Given the description of an element on the screen output the (x, y) to click on. 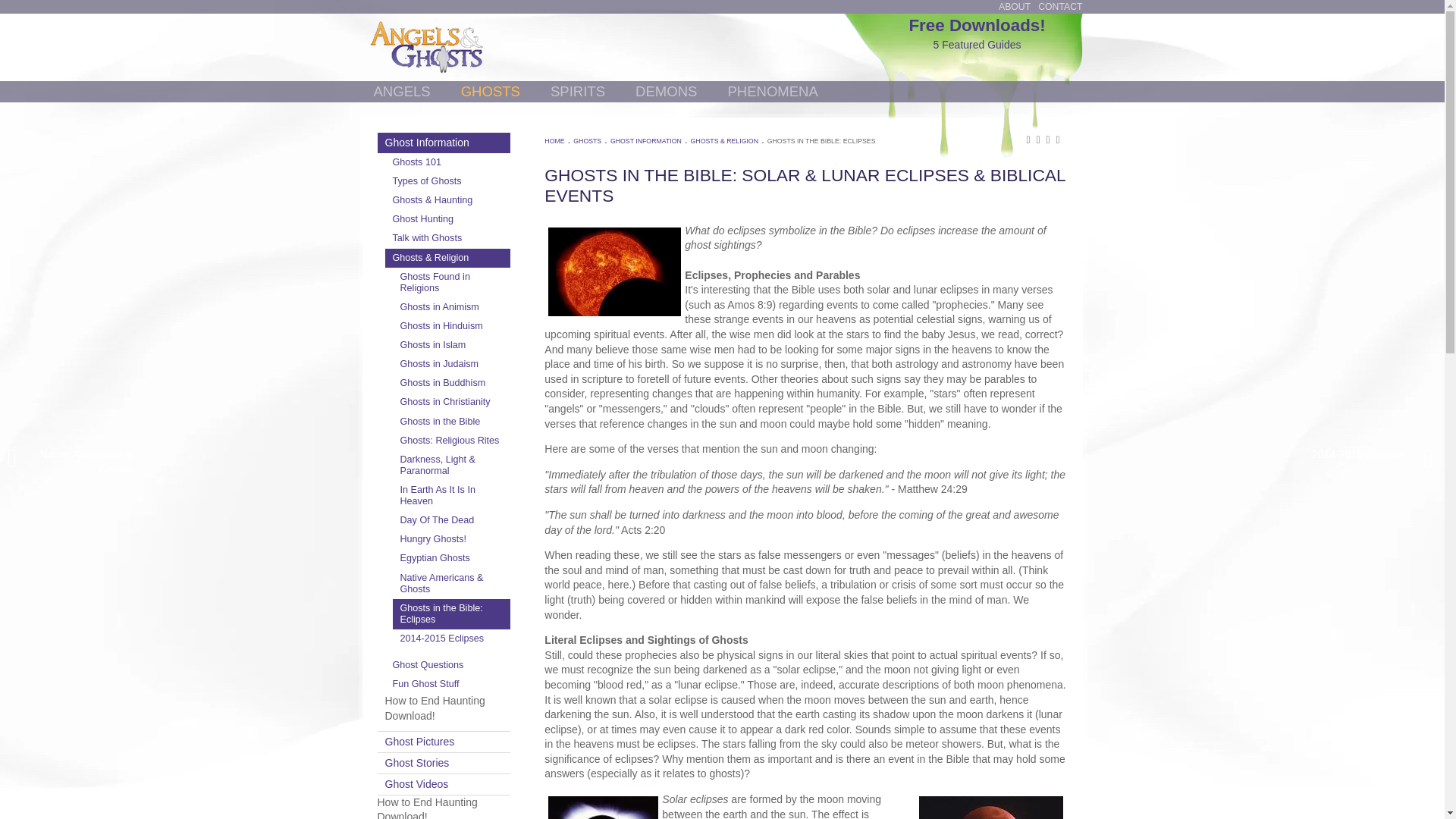
GHOSTS (489, 91)
ANGELS (401, 91)
ABOUT (1014, 6)
Ghosts in Judaism (452, 363)
Ghosts Found in Religions (452, 282)
Talk with Ghosts (448, 238)
Ghosts in Christianity (452, 402)
Ghosts in Buddhism (452, 383)
Hungry Ghosts! (452, 538)
Ghosts in Islam (452, 344)
